Given the description of an element on the screen output the (x, y) to click on. 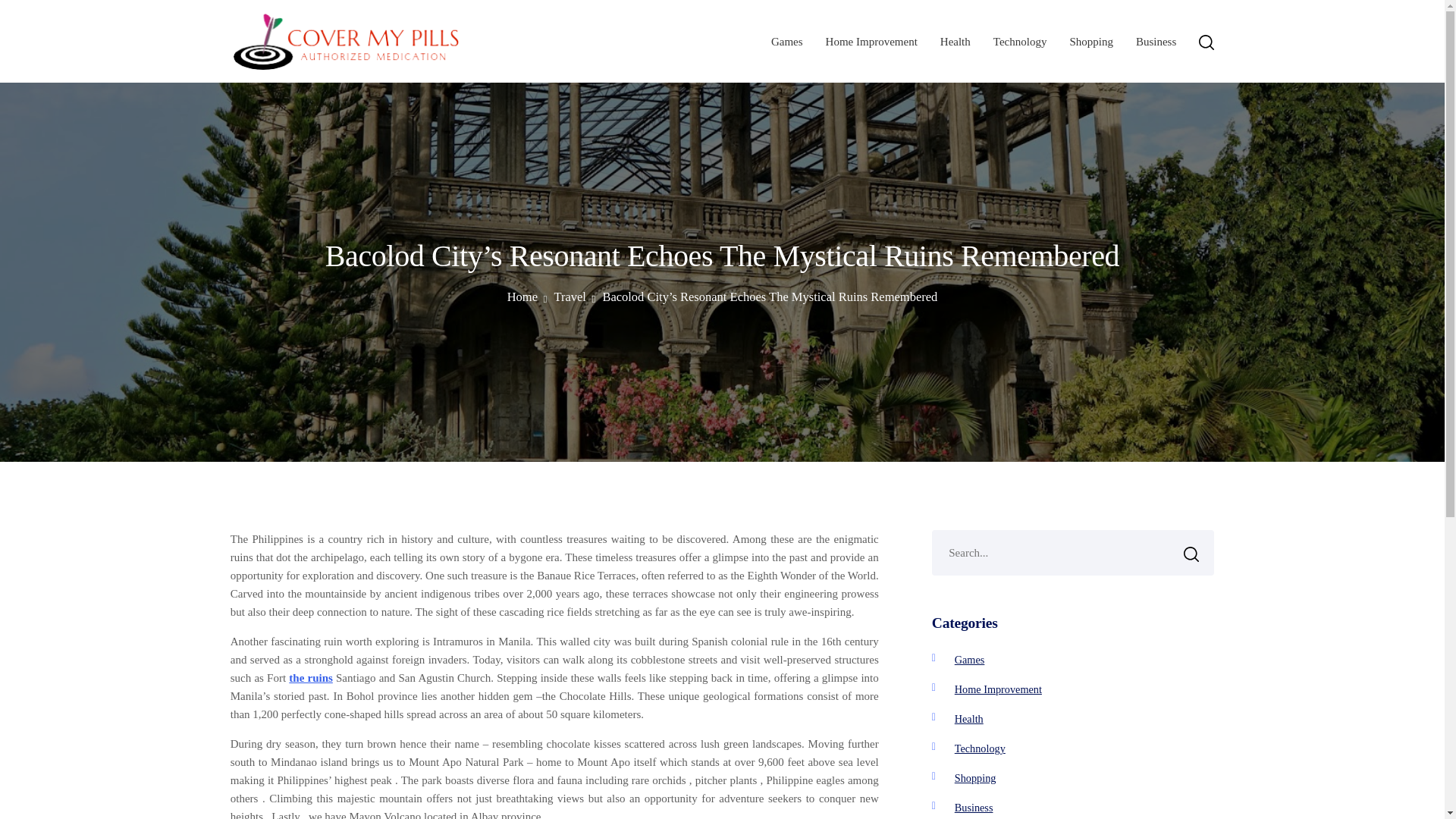
Technology (980, 748)
Games (970, 659)
Business (973, 807)
Home (526, 296)
Shopping (975, 777)
Home Improvement (871, 41)
Cover MY Pills (305, 88)
Travel (574, 296)
Technology (1019, 41)
the ruins (310, 677)
Health (955, 41)
Health (969, 718)
Games (787, 41)
Home Improvement (998, 689)
Shopping (1090, 41)
